Given the description of an element on the screen output the (x, y) to click on. 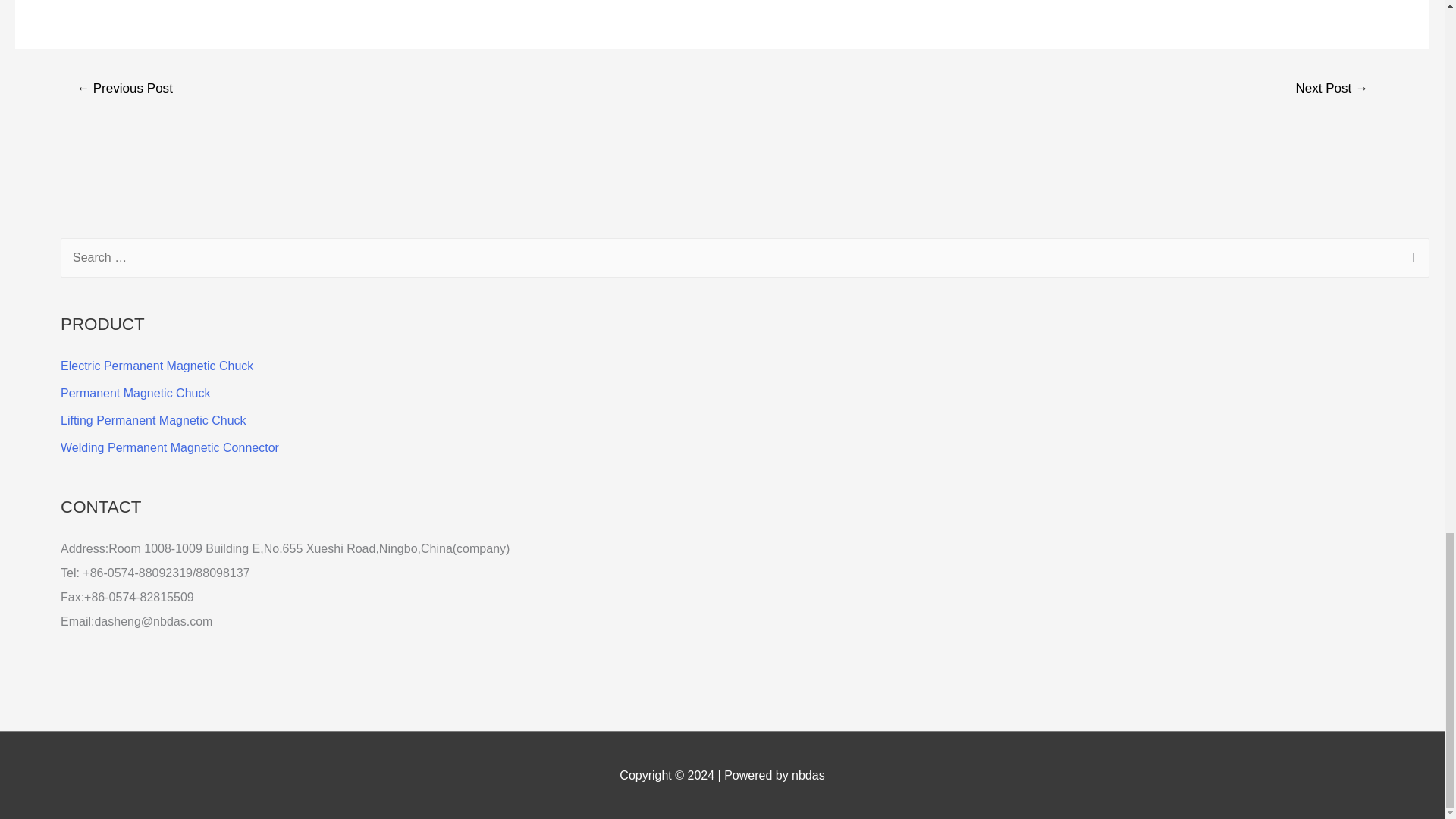
Electric Permanent Magnetic Chuck (157, 365)
Welding Permanent Magnetic Connector (170, 447)
Permanent Magnetic Chuck (135, 392)
Lifting Permanent Magnetic Chuck (153, 420)
